Given the description of an element on the screen output the (x, y) to click on. 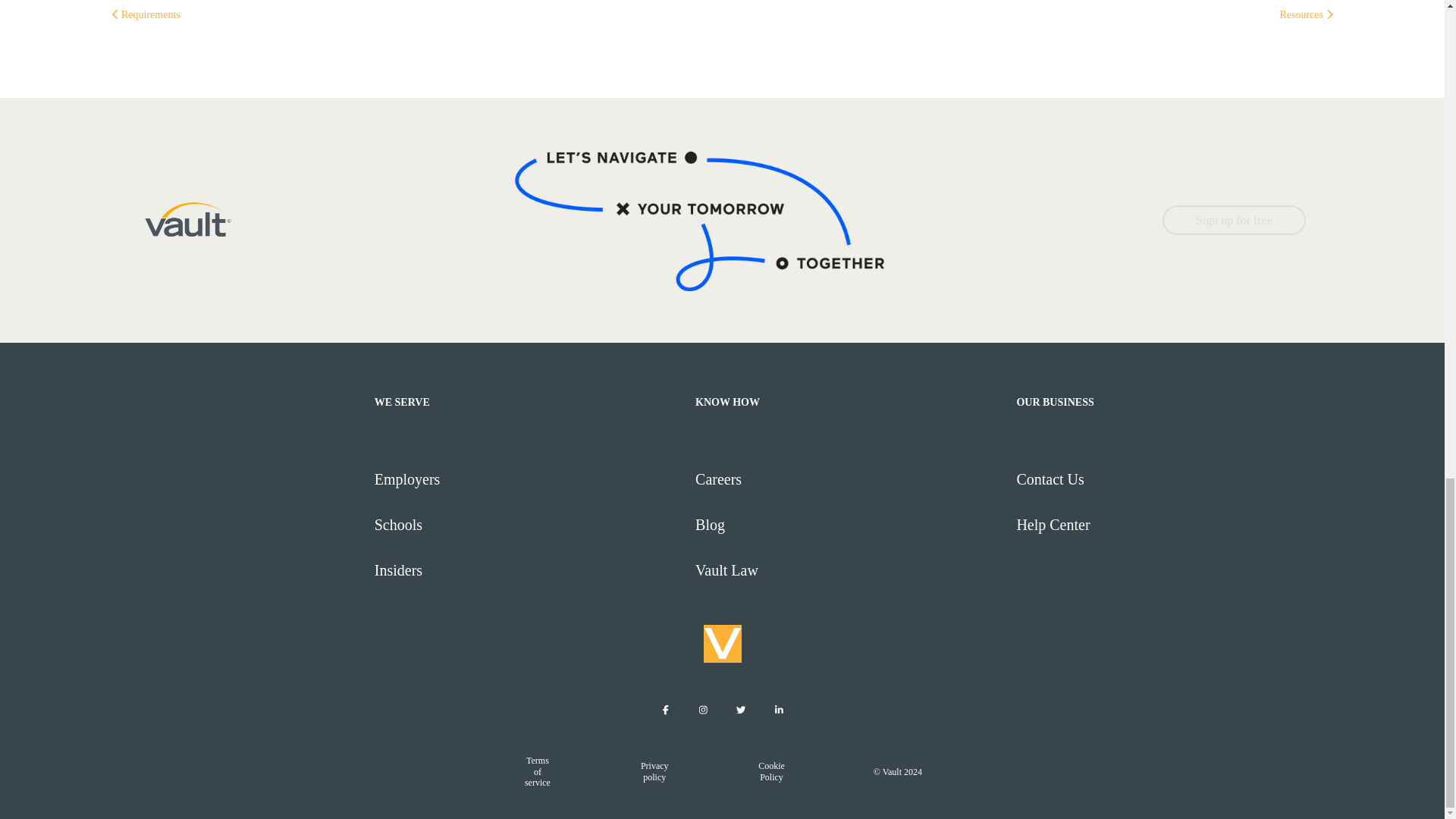
Blog (849, 524)
Employers (528, 478)
Careers (849, 478)
Sign up for free (1233, 220)
Schools (528, 524)
Contact Us (1170, 478)
Requirements (146, 14)
Help Center (1170, 524)
Resources (1305, 14)
Vault Law (849, 570)
